Given the description of an element on the screen output the (x, y) to click on. 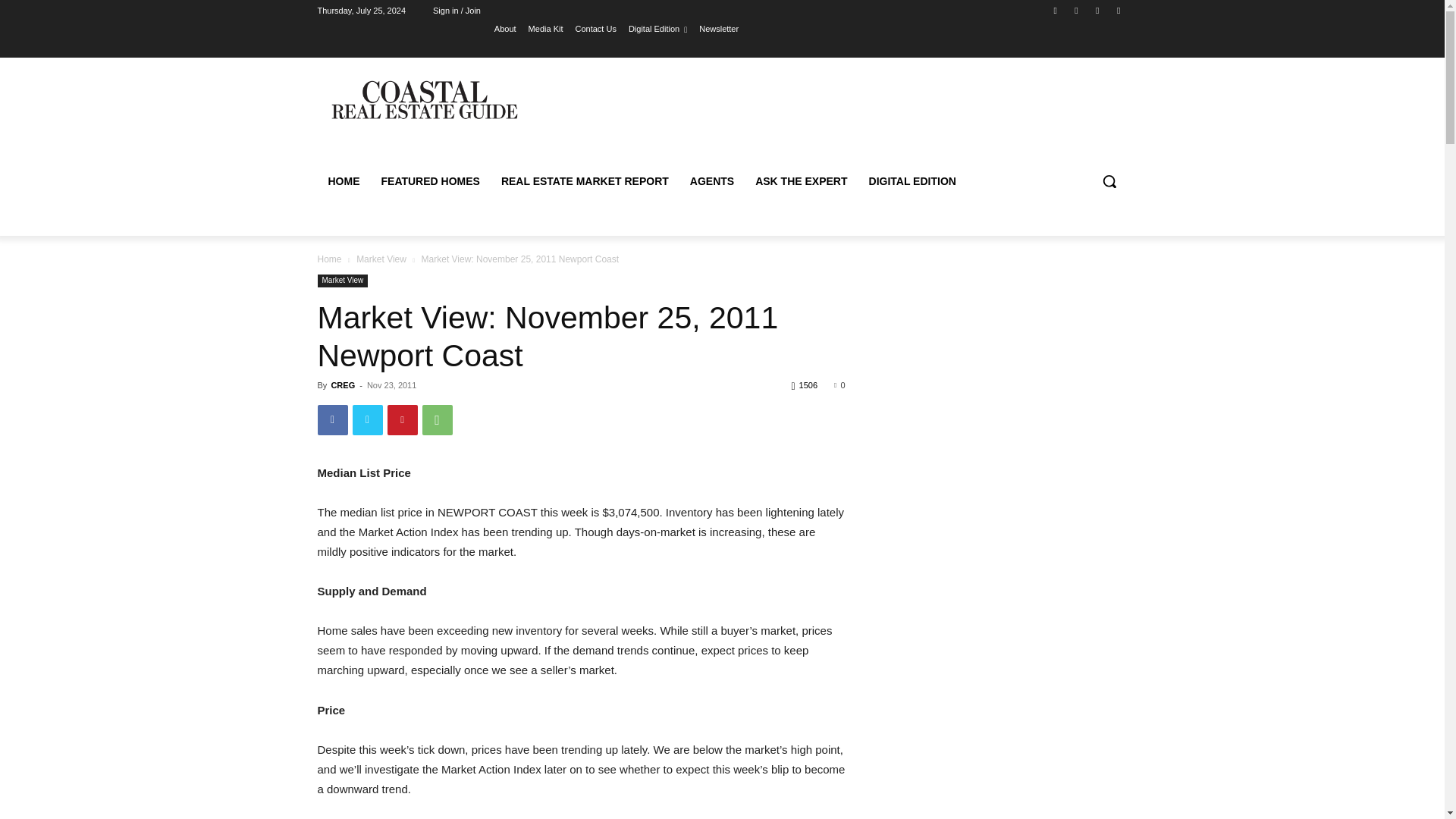
Facebook (1055, 9)
Market View (381, 258)
Twitter (366, 419)
CREG (342, 384)
Digital Edition (657, 28)
About (505, 28)
Instagram (1075, 9)
HOME (343, 180)
Market View (342, 280)
ASK THE EXPERT (800, 180)
3rd party ad content (849, 117)
AGENTS (711, 180)
Mail (1097, 9)
REAL ESTATE MARKET REPORT (584, 180)
View all posts in Market View (381, 258)
